Given the description of an element on the screen output the (x, y) to click on. 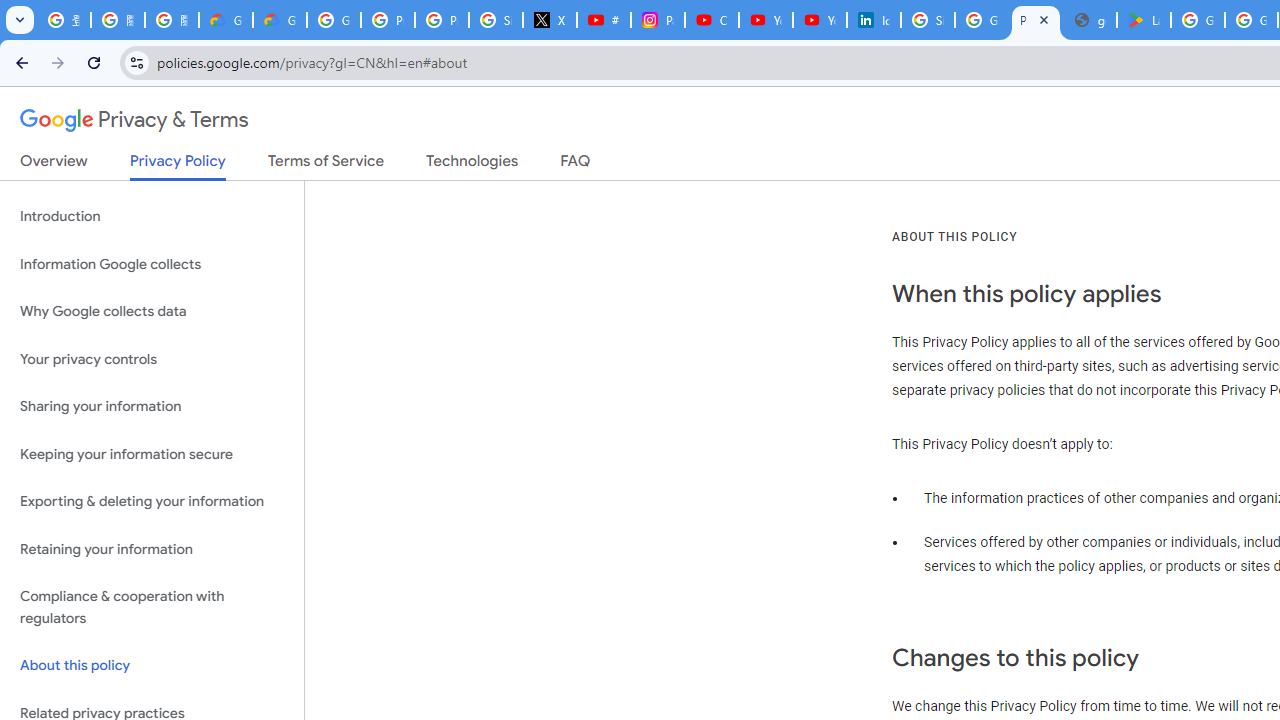
Google Cloud Privacy Notice (225, 20)
